Given the description of an element on the screen output the (x, y) to click on. 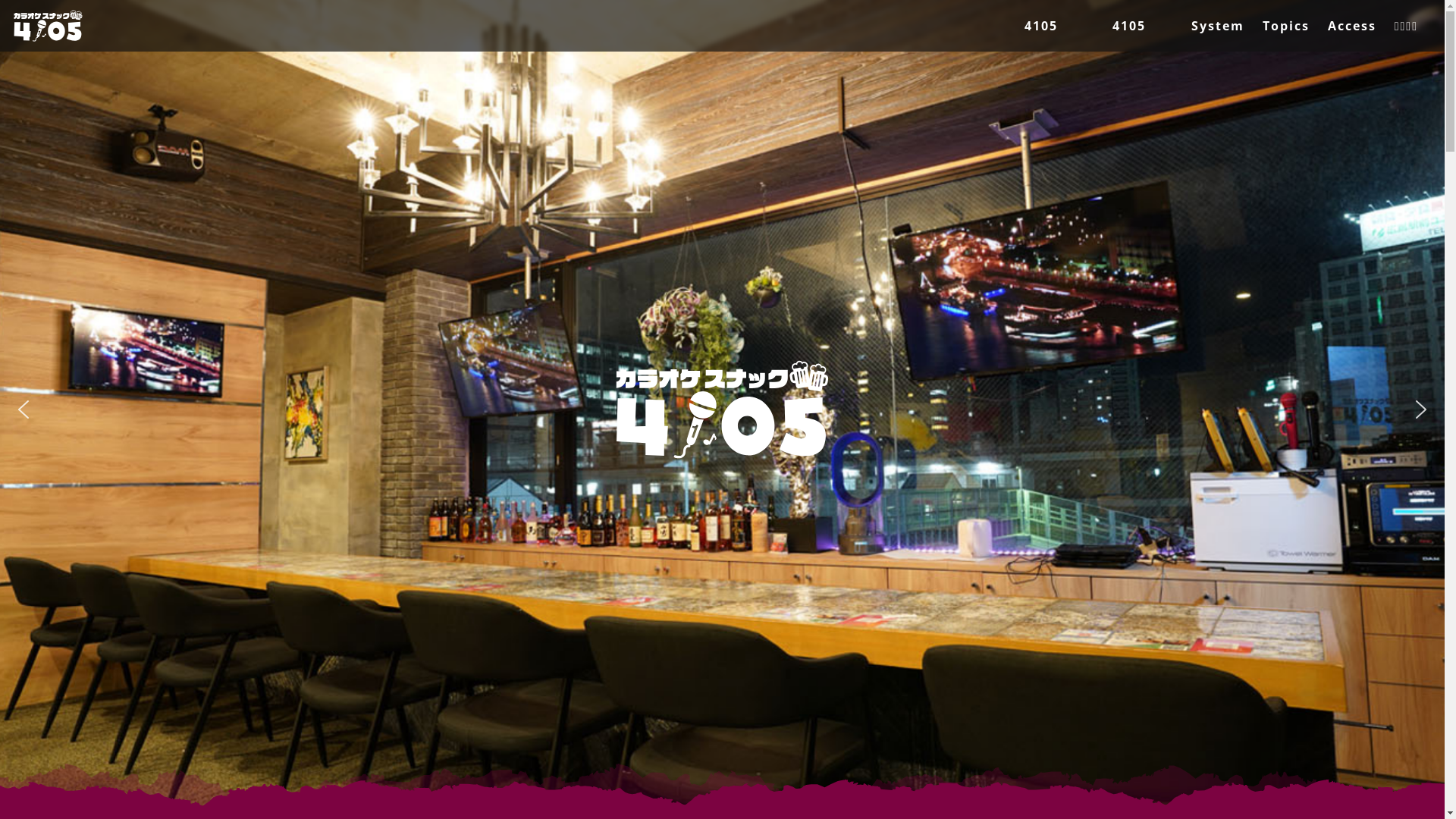
Topics Element type: text (1286, 25)
Access Element type: text (1351, 25)
System Element type: text (1217, 25)
